Given the description of an element on the screen output the (x, y) to click on. 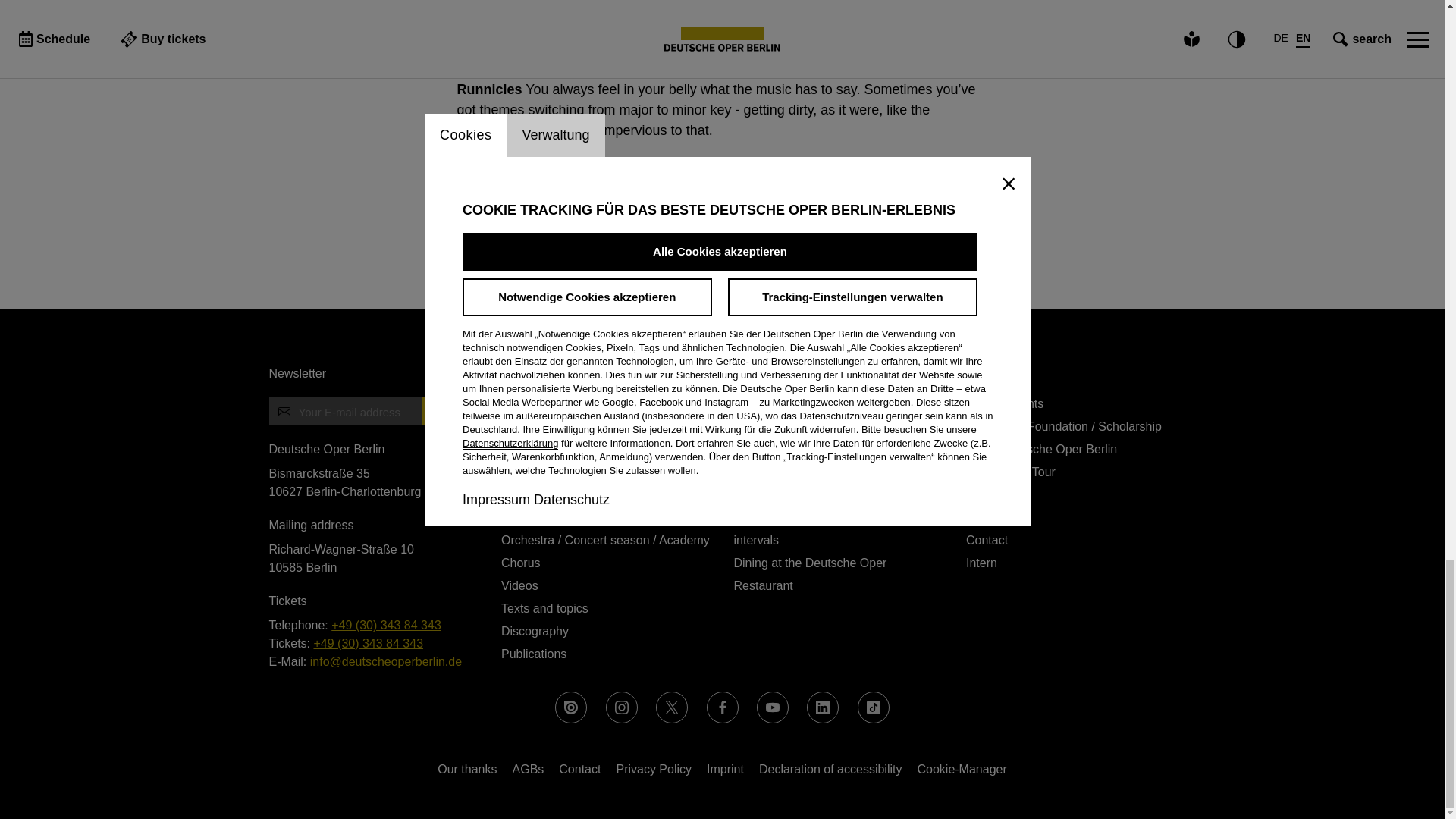
Related Topics (722, 224)
Stefan Herheim (782, 256)
send (442, 410)
Wagner (873, 256)
Donald Runnicles (666, 256)
Der Ring des Nibelungen (529, 256)
